Given the description of an element on the screen output the (x, y) to click on. 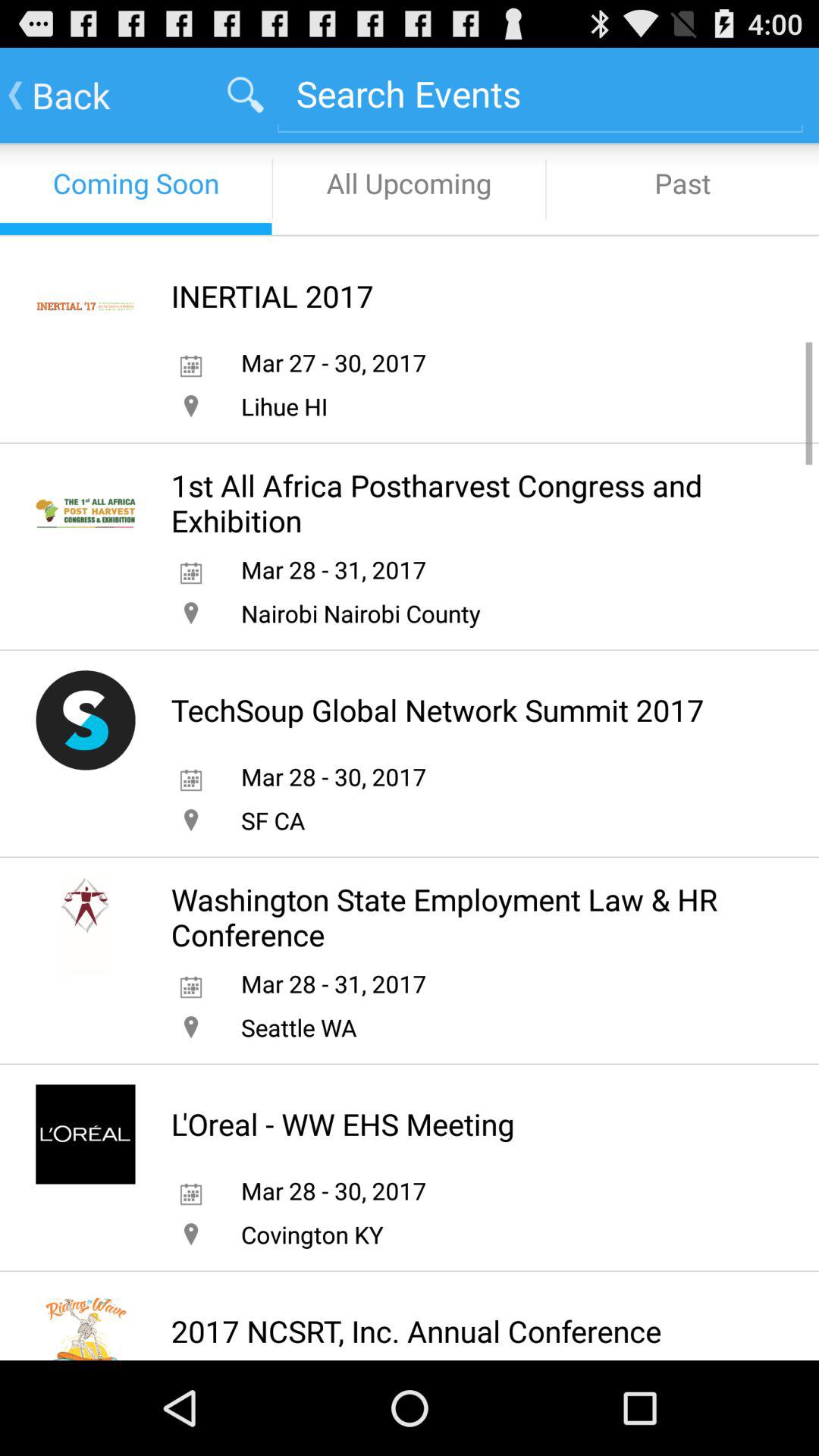
flip to seattle wa item (298, 1027)
